Given the description of an element on the screen output the (x, y) to click on. 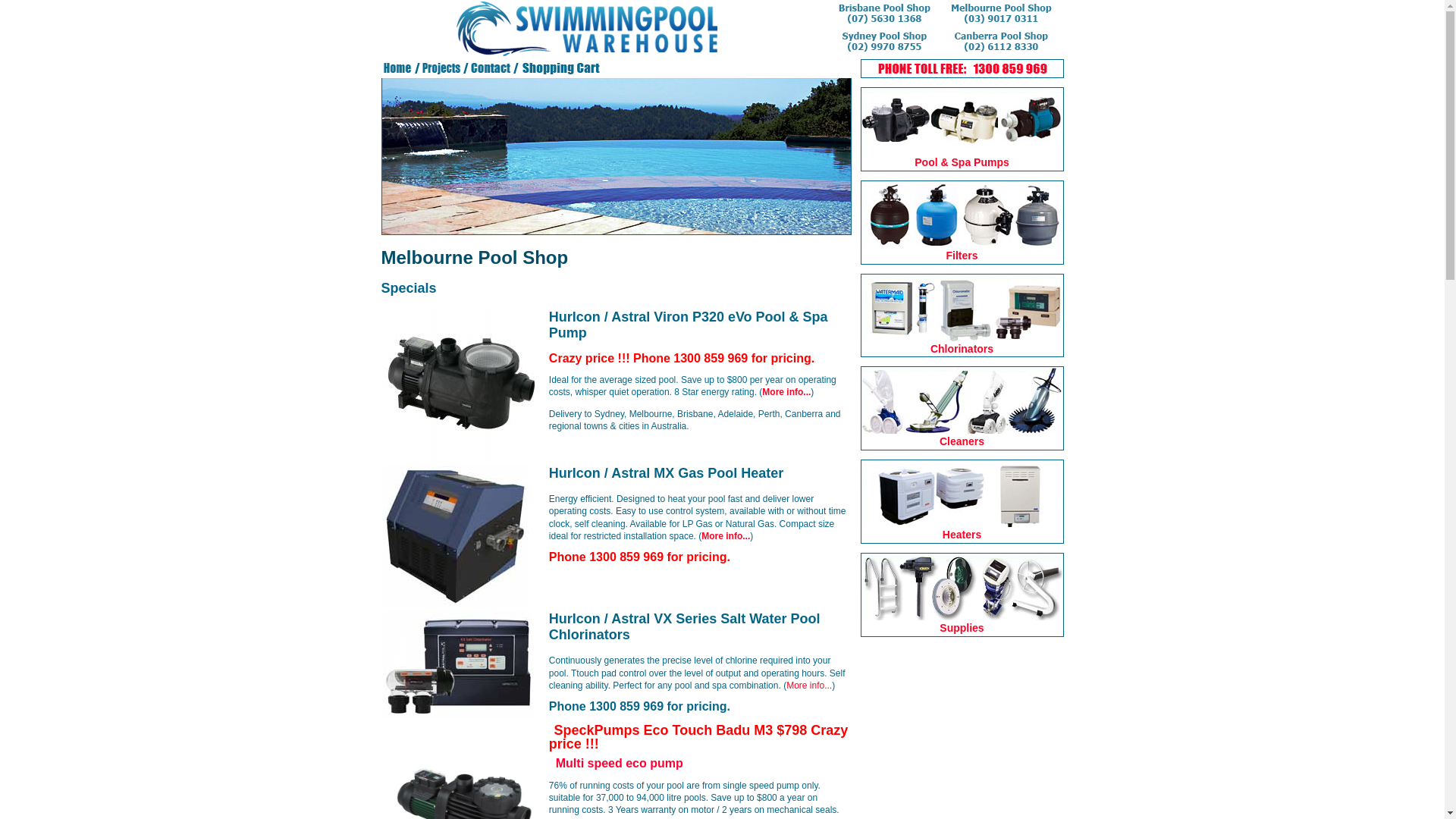
Cleaners Element type: text (961, 441)
Pool & Spa Pumps Element type: text (961, 162)
Filters Element type: text (961, 255)
Heaters Element type: text (961, 534)
More info... Element type: text (808, 685)
Chlorinators Element type: text (961, 348)
More info... Element type: text (725, 535)
More info... Element type: text (786, 391)
Supplies Element type: text (961, 627)
